Given the description of an element on the screen output the (x, y) to click on. 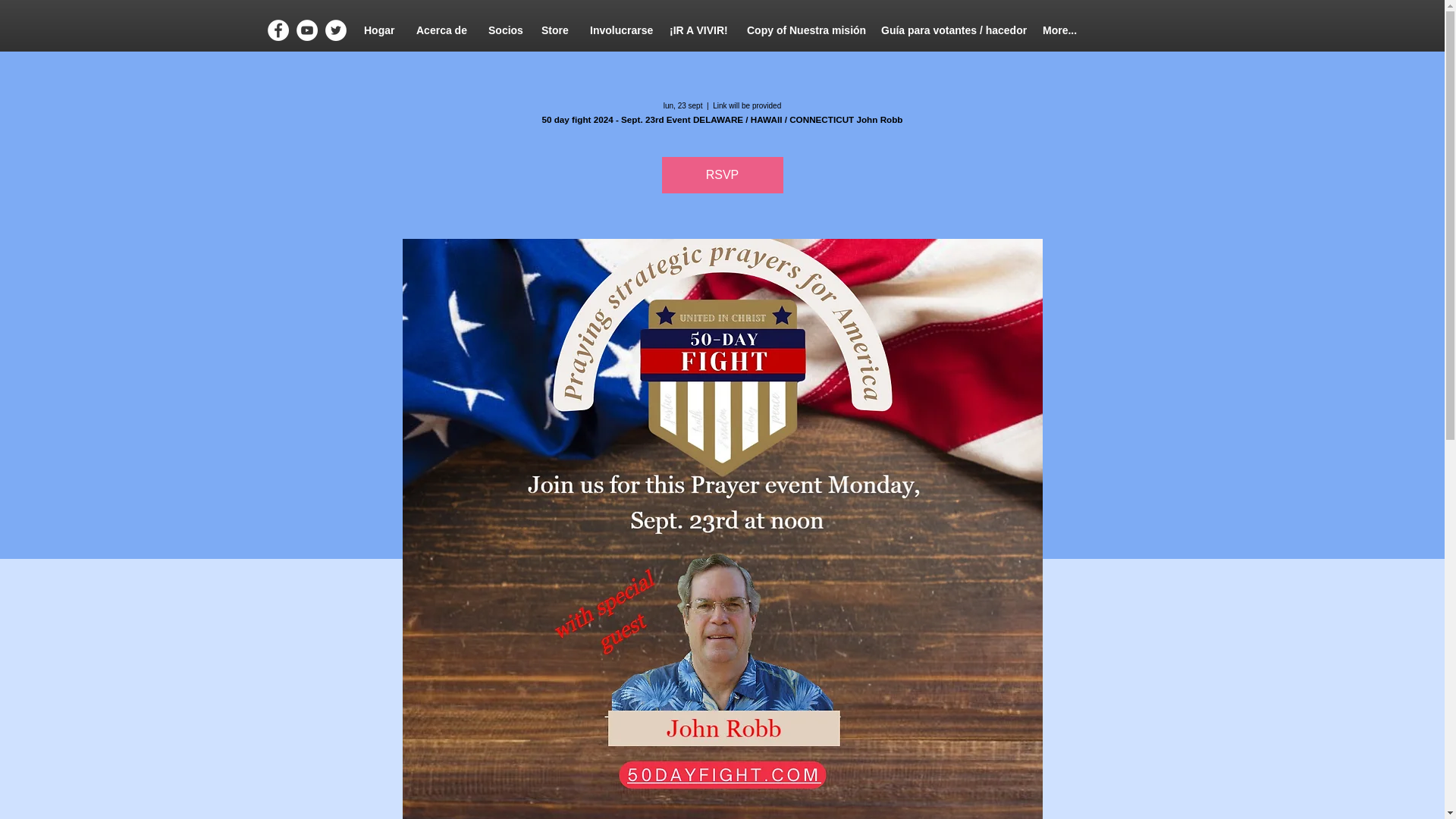
Socios (503, 30)
Hogar (378, 30)
Store (553, 30)
RSVP (722, 175)
